Given the description of an element on the screen output the (x, y) to click on. 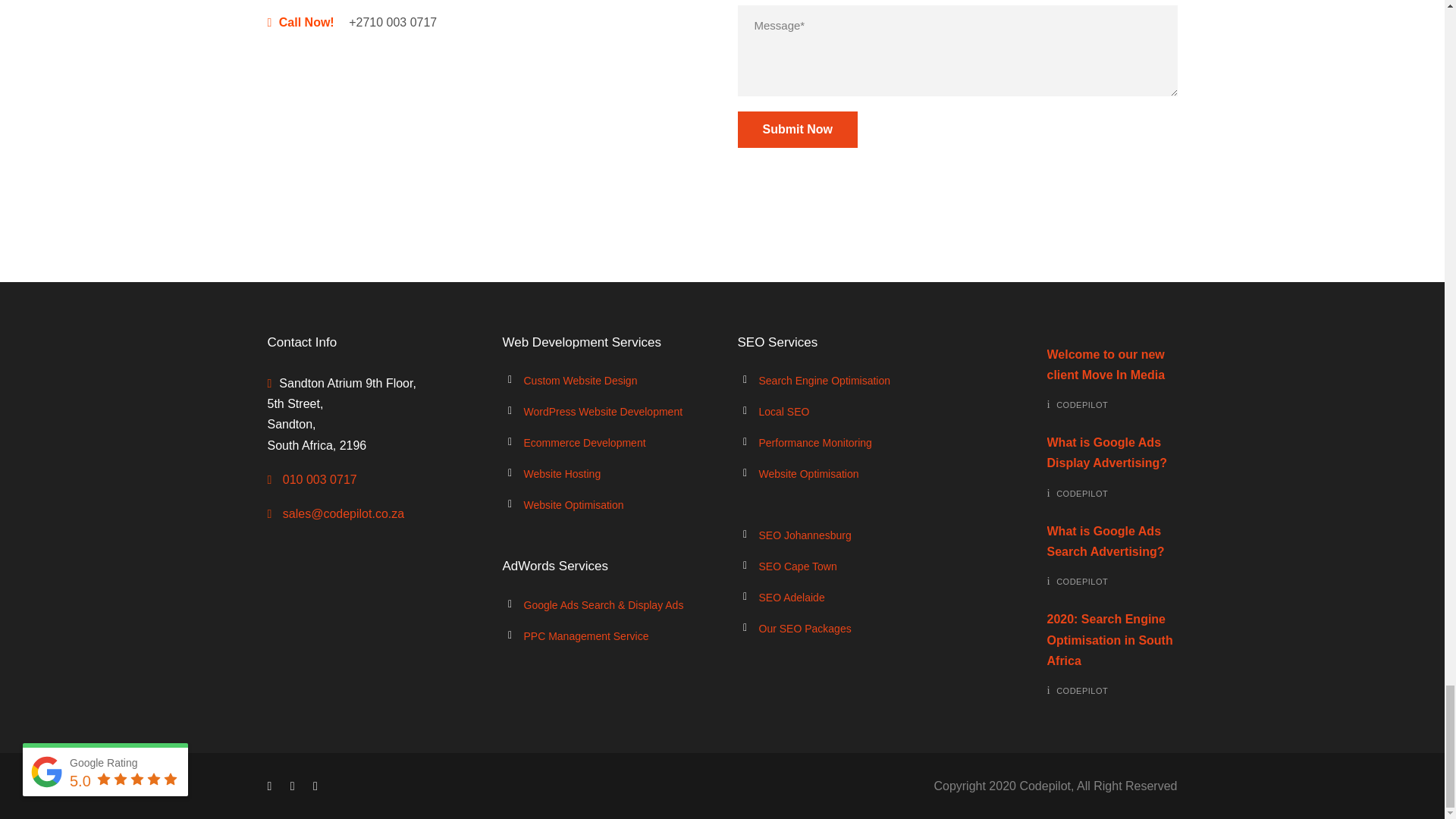
Submit Now (796, 129)
Posts by Codepilot (1082, 581)
Posts by Codepilot (1082, 404)
Posts by Codepilot (1082, 690)
Posts by Codepilot (1082, 492)
